Given the description of an element on the screen output the (x, y) to click on. 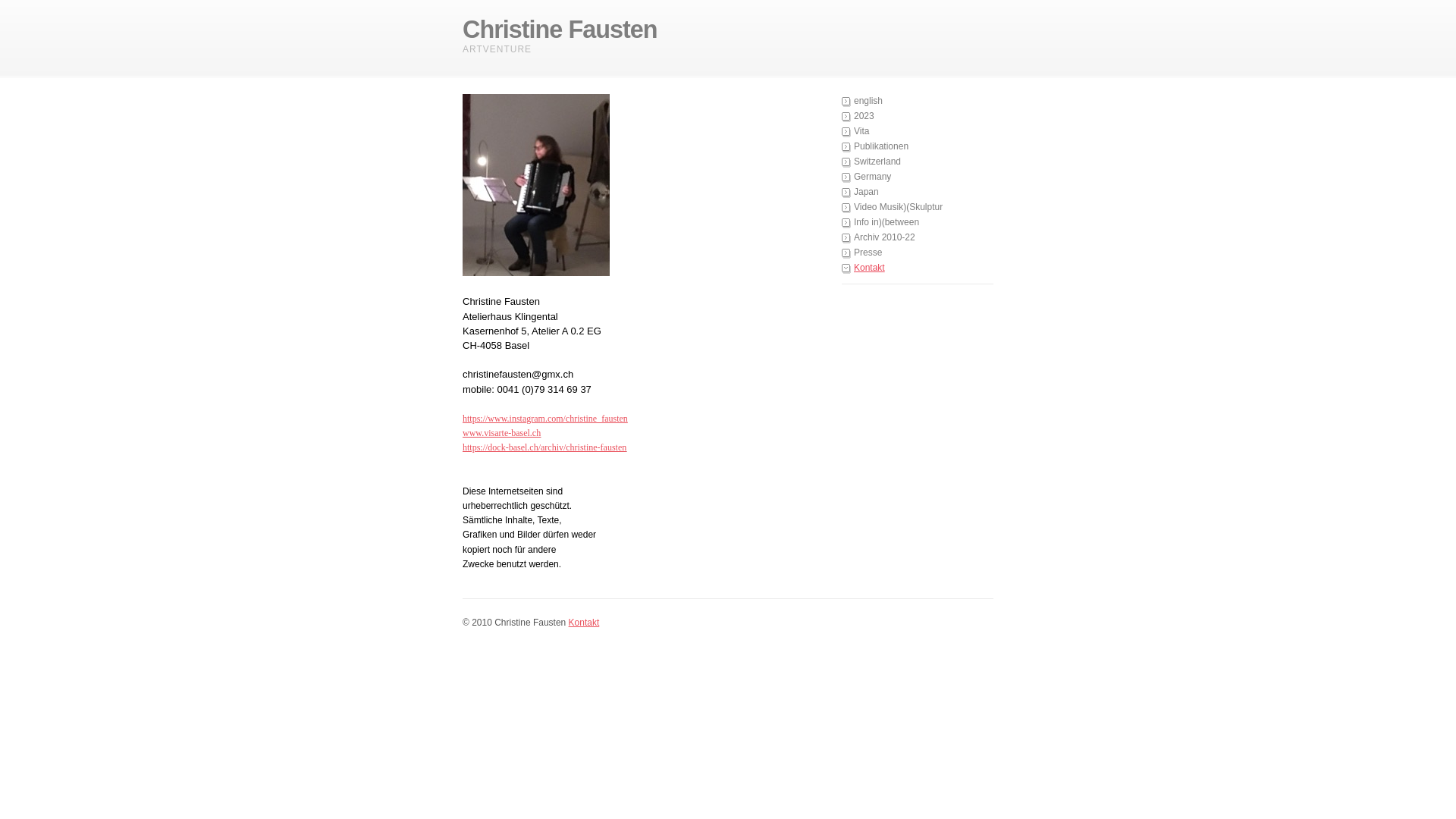
Germany Element type: text (917, 177)
Switzerland Element type: text (917, 161)
www.visarte-basel.ch Element type: text (501, 432)
https://dock-basel.ch/archiv/christine-fausten Element type: text (544, 447)
Info in)(between Element type: text (917, 222)
Video Musik)(Skulptur Element type: text (917, 207)
2023 Element type: text (917, 116)
Vita Element type: text (917, 131)
https://www.instagram.com/christine_fausten Element type: text (544, 418)
Kontakt Element type: text (583, 622)
Publikationen Element type: text (917, 146)
Japan Element type: text (917, 192)
Presse Element type: text (917, 252)
Kontakt Element type: text (917, 268)
Archiv 2010-22 Element type: text (917, 237)
english Element type: text (917, 101)
